Given the description of an element on the screen output the (x, y) to click on. 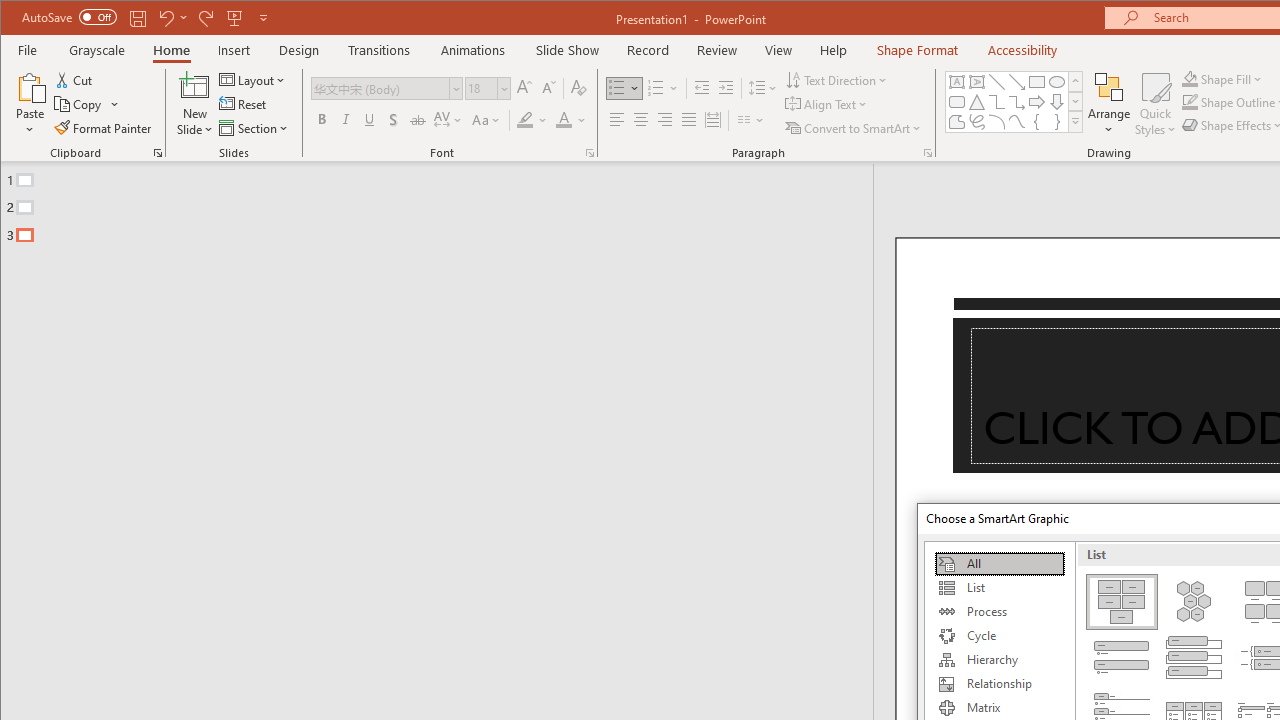
Vertical Bullet List (1121, 658)
